Given the description of an element on the screen output the (x, y) to click on. 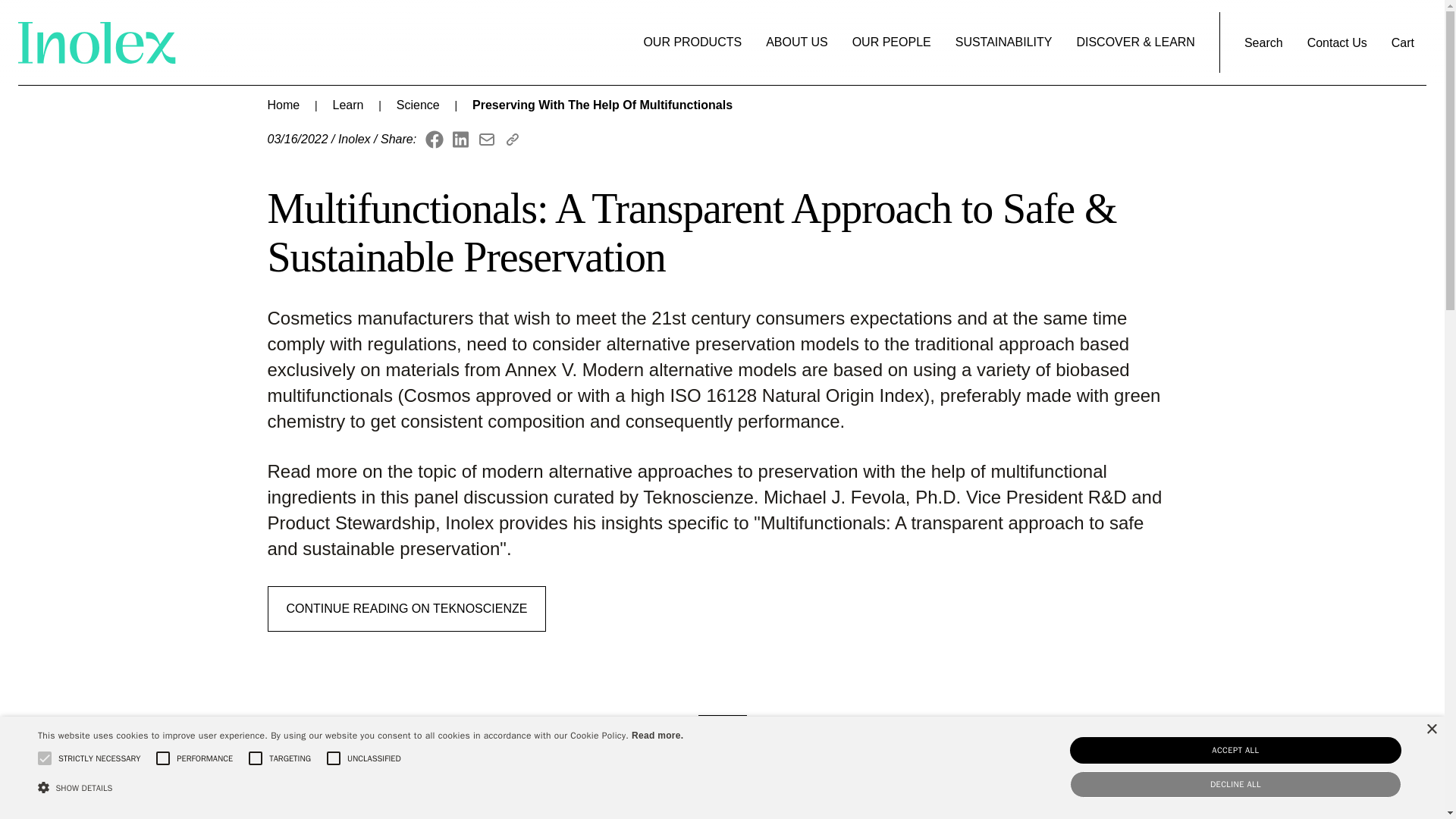
ABOUT US (796, 42)
Search (1263, 43)
Contact Us (1337, 43)
SUSTAINABILITY (1003, 42)
Preserving With The Help Of Multifunctionals (601, 104)
Learn (348, 104)
Science (417, 104)
CONTINUE READING ON TEKNOSCIENZE (406, 608)
OUR PRODUCTS (692, 42)
Home (282, 104)
